Given the description of an element on the screen output the (x, y) to click on. 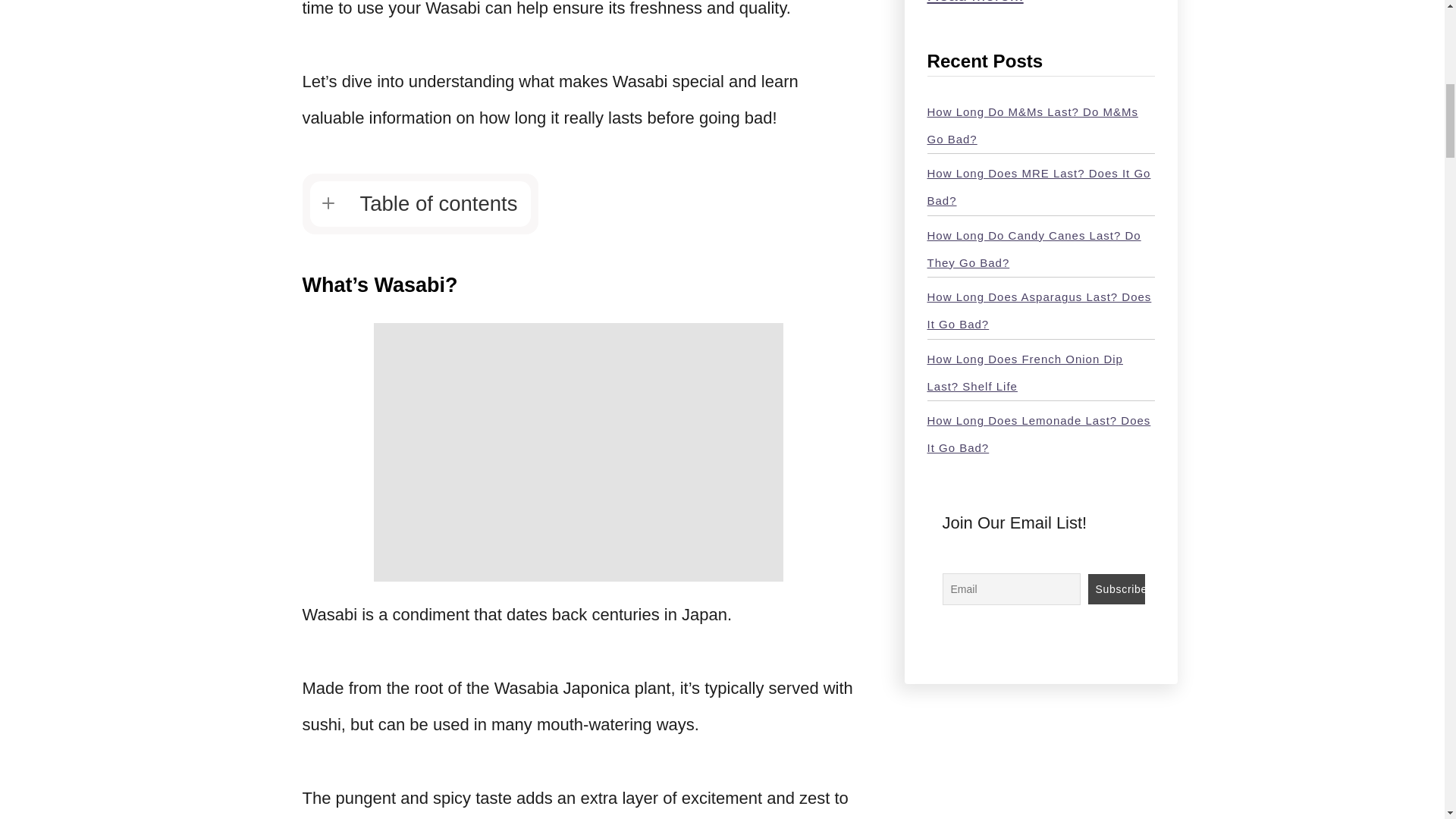
How Long Does MRE Last? Does it Go Bad? (1038, 187)
How Long Do Candy Canes Last? Do They Go Bad? (1033, 249)
Subscribe (1115, 589)
How Long Does Asparagus Last? Does it Go Bad? (1038, 310)
